Given the description of an element on the screen output the (x, y) to click on. 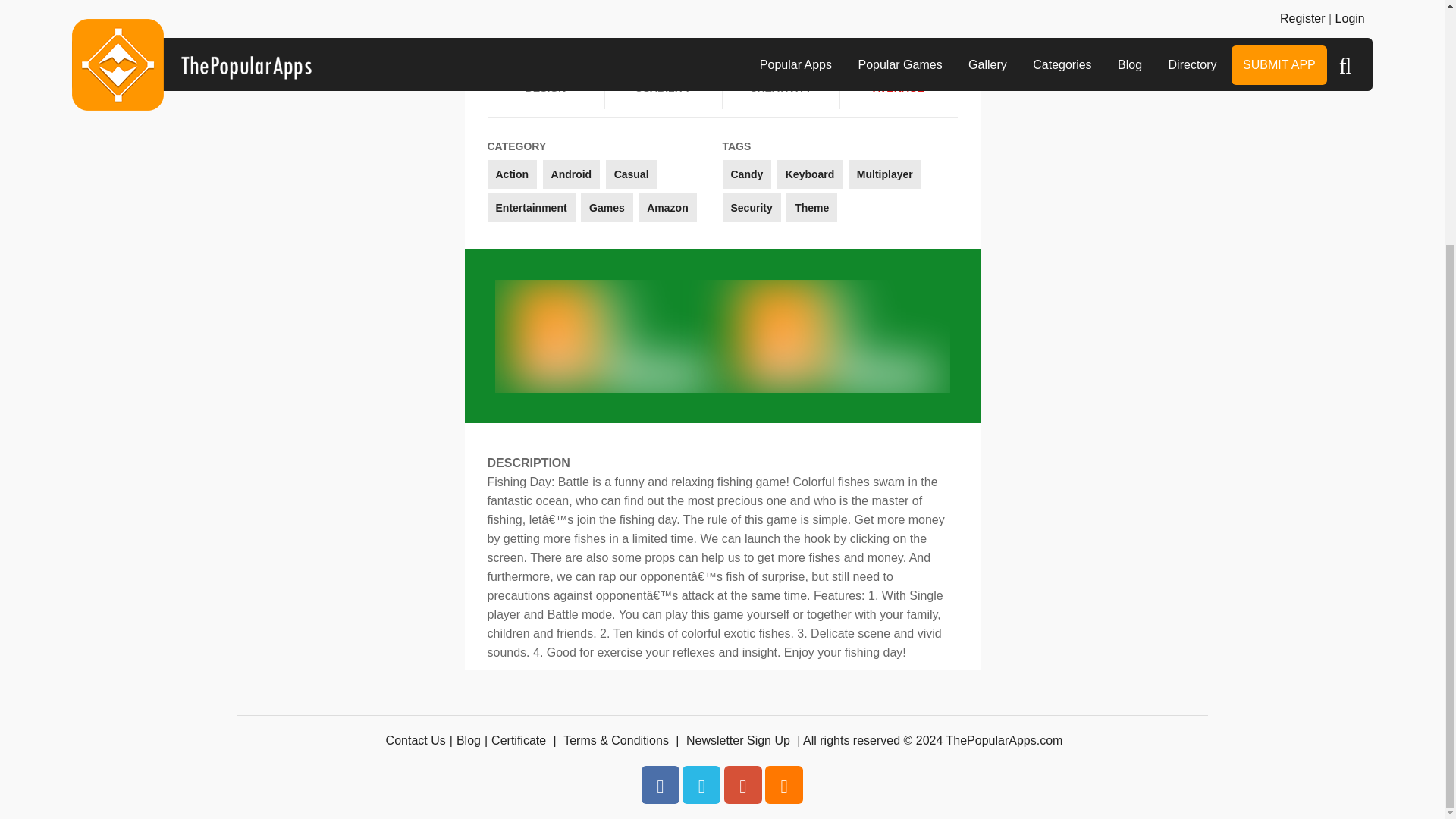
Rss (784, 784)
Newsletter Sign Up (737, 739)
Amazon (667, 207)
Pinterest (742, 784)
Multiplayer (884, 174)
Games (606, 207)
Blog (468, 739)
Certificate (518, 739)
Contact Us (415, 739)
Action (511, 174)
Entertainment (530, 207)
Facebook (660, 784)
Android (571, 174)
Candy (746, 174)
Theme (811, 207)
